Given the description of an element on the screen output the (x, y) to click on. 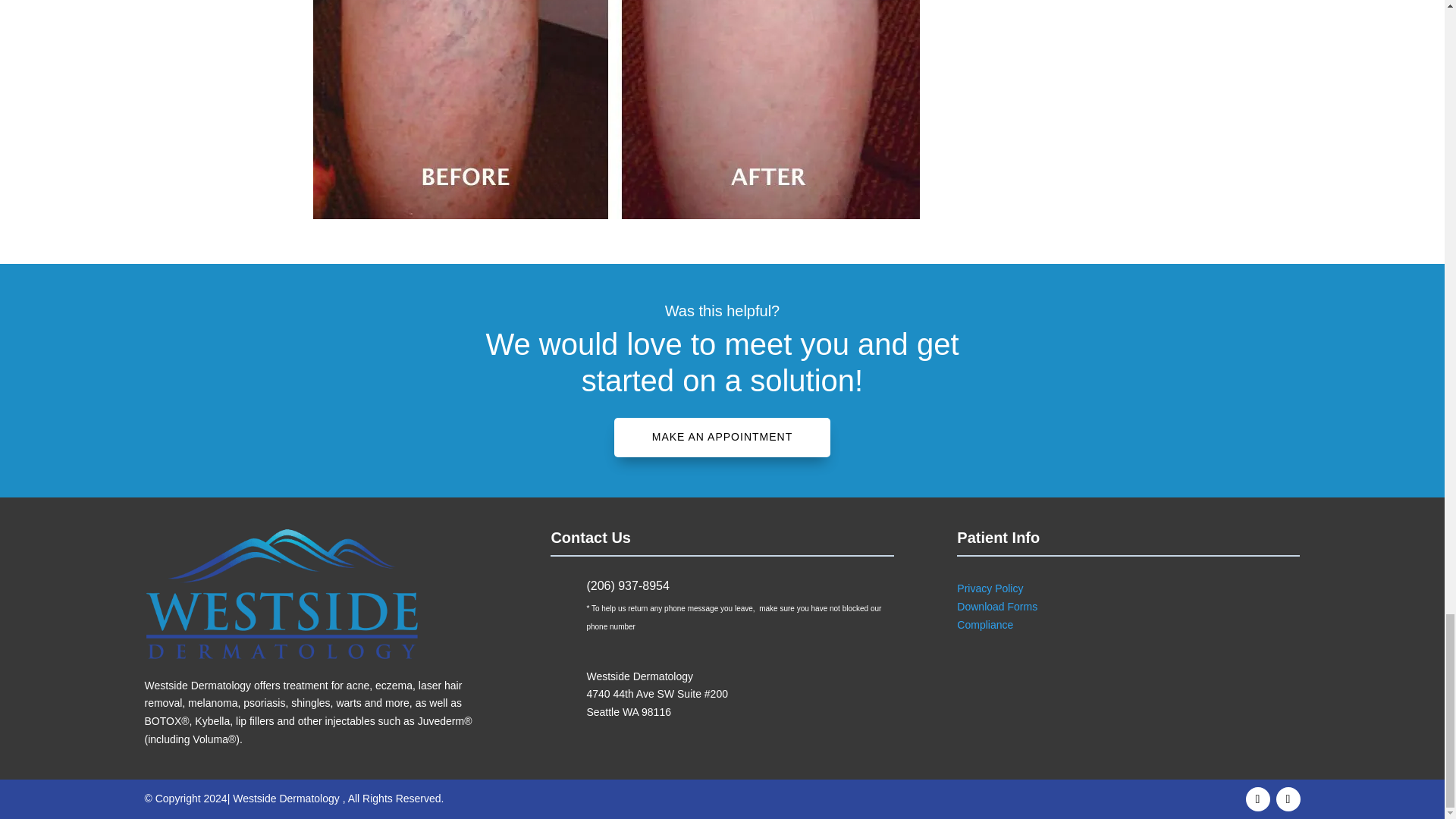
Follow on Yelp (1287, 799)
Follow on Facebook (1256, 799)
westside-dermatology-logo-500x244-640w (281, 594)
